Given the description of an element on the screen output the (x, y) to click on. 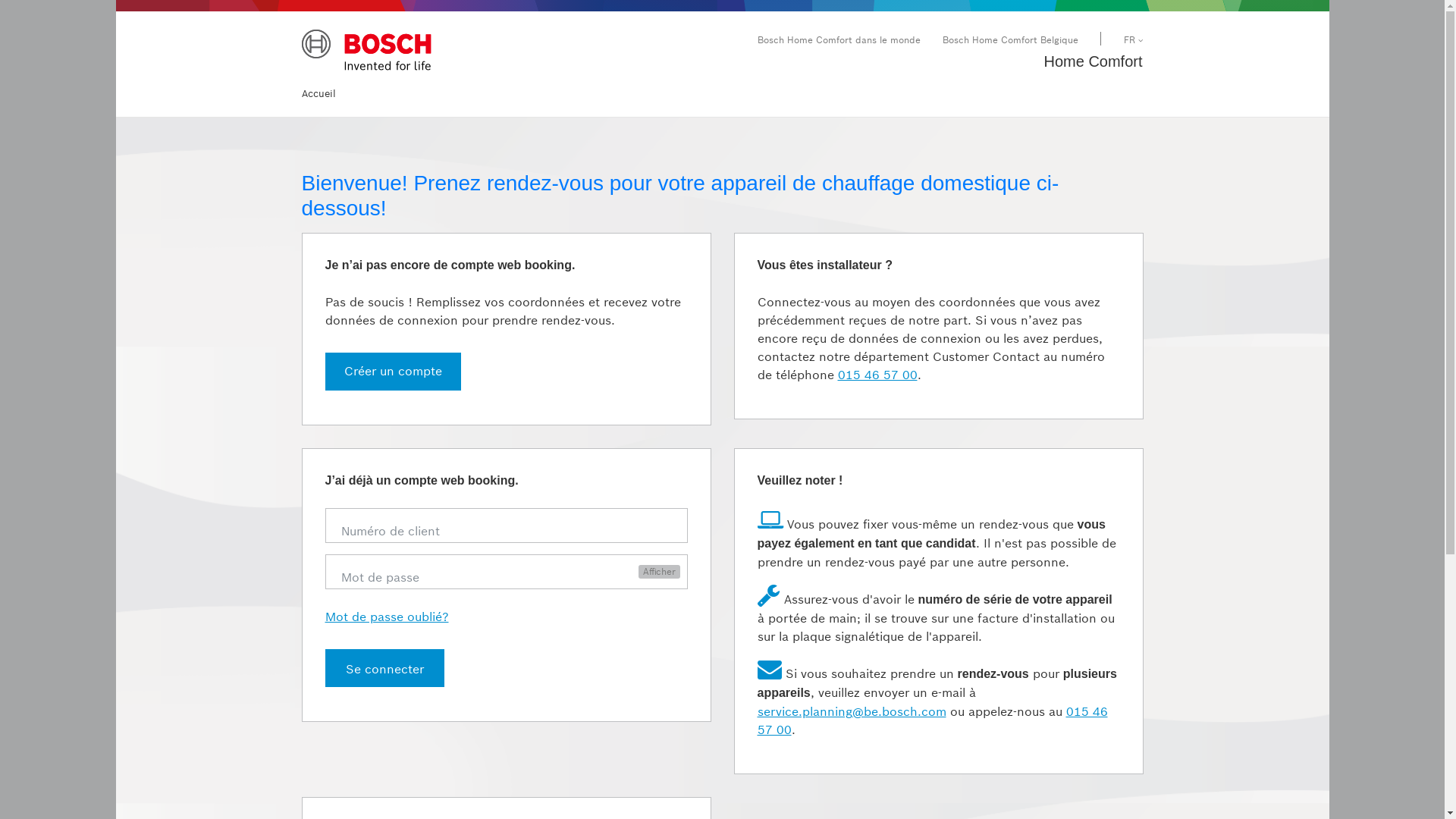
Bosch Home Comfort Belgique Element type: text (1009, 39)
015 46 57 00 Element type: text (876, 374)
015 46 57 00 Element type: text (931, 720)
Bosch Logo Element type: hover (366, 52)
Bosch Home Comfort dans le monde Element type: text (837, 39)
Se connecter Element type: text (383, 668)
FR Element type: text (1132, 39)
service.planning@be.bosch.com Element type: text (850, 710)
